Given the description of an element on the screen output the (x, y) to click on. 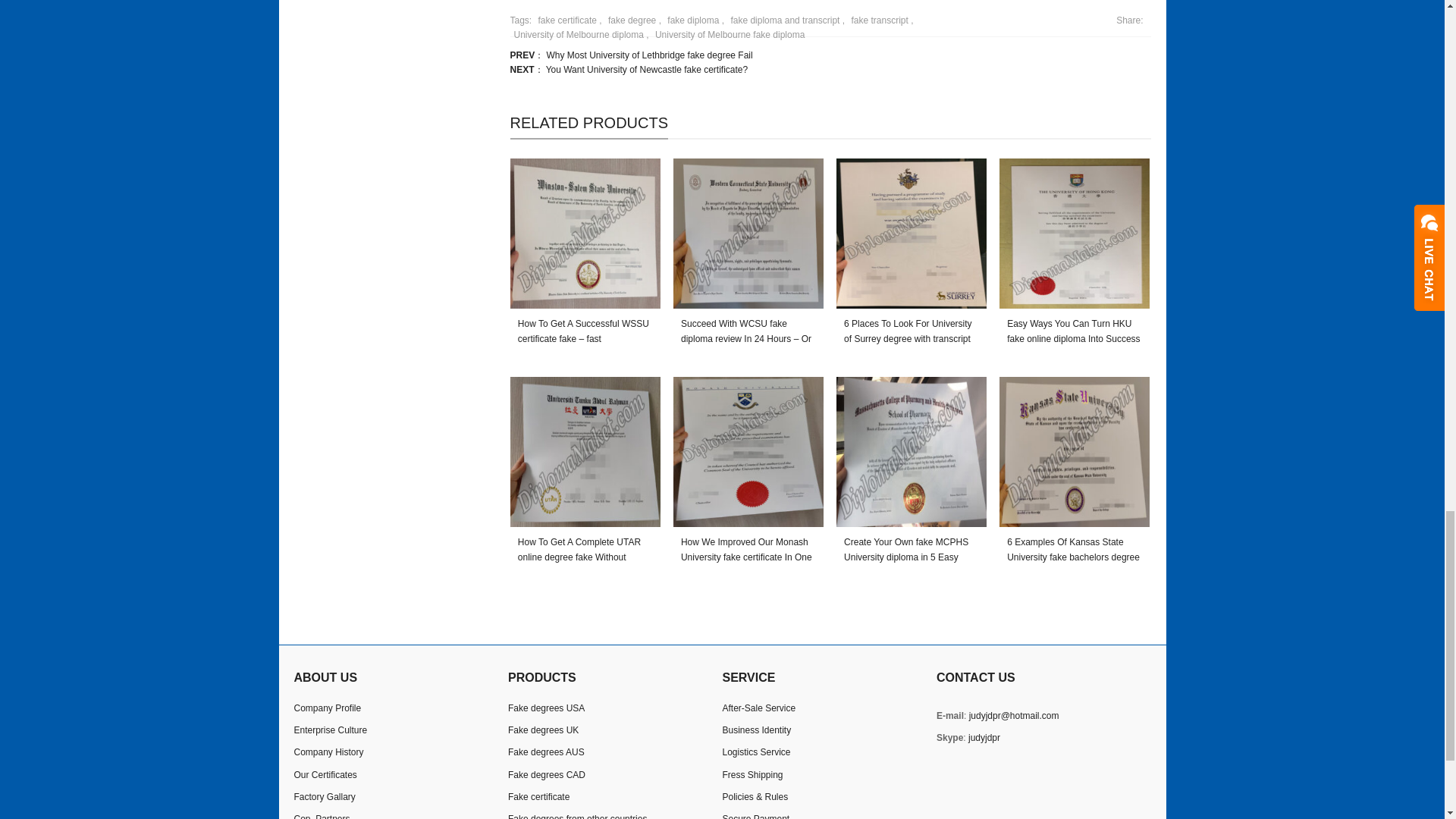
University of Melbourne fake diploma (727, 34)
You Want University of Newcastle fake certificate? (647, 69)
How To Get A Successful WSSU certificate fake - fast (586, 233)
fake transcript (877, 20)
fake certificate (565, 20)
fake degree (630, 20)
fake diploma and transcript (783, 20)
6 Examples Of Kansas State University fake bachelors degree (1074, 451)
Why Most University of Lethbridge fake degree Fail (649, 54)
Easy Ways You Can Turn HKU fake online diploma Into Success (1074, 233)
fake diploma (691, 20)
